Given the description of an element on the screen output the (x, y) to click on. 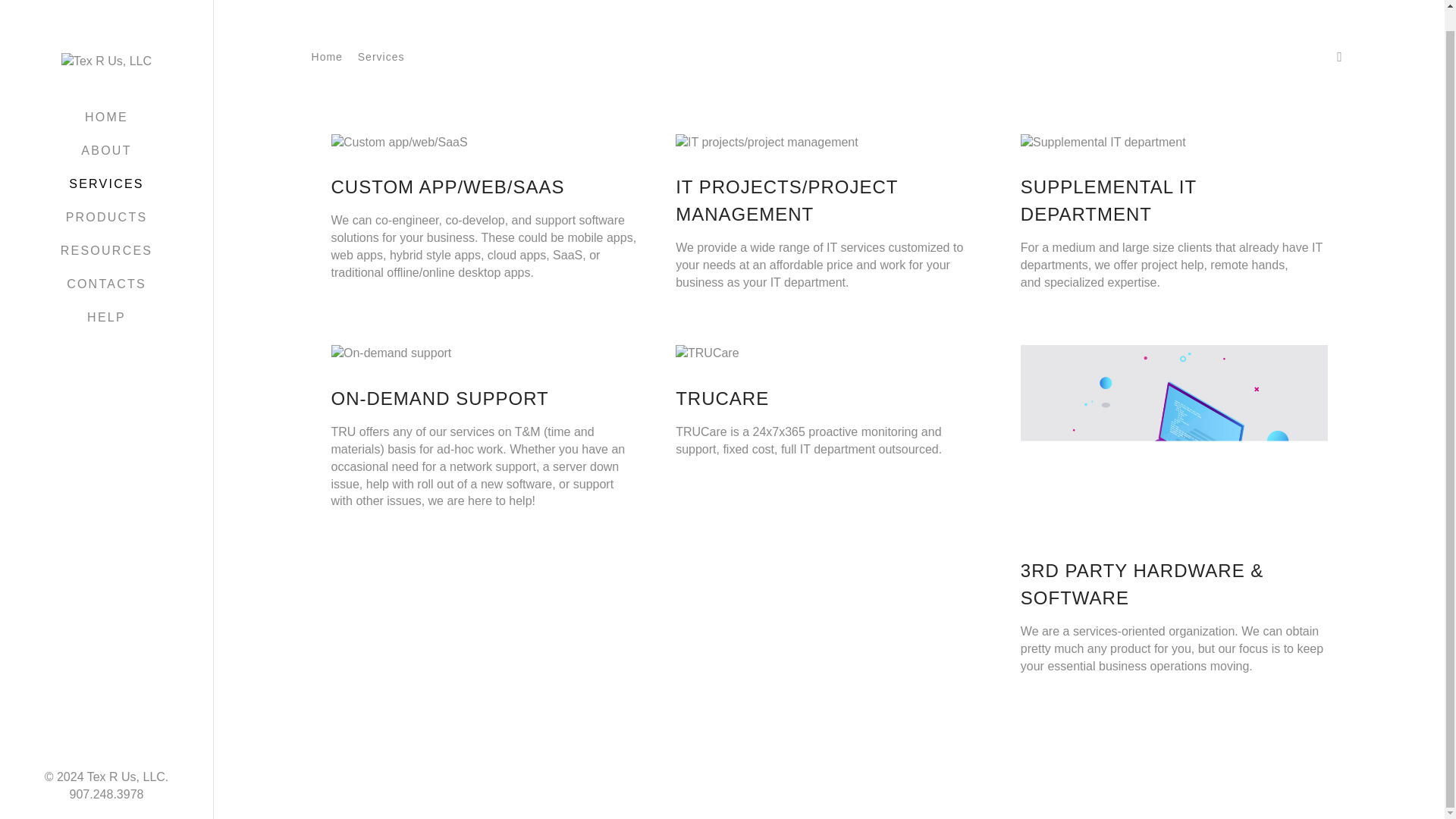
SUPPLEMENTAL IT DEPARTMENT (1173, 200)
HOME (106, 96)
HELP (106, 296)
TRUCARE (828, 398)
SERVICES (106, 163)
ON-DEMAND SUPPORT (483, 398)
PRODUCTS (106, 196)
Home (326, 56)
CONTACTS (106, 263)
ABOUT (106, 130)
RESOURCES (106, 230)
